Given the description of an element on the screen output the (x, y) to click on. 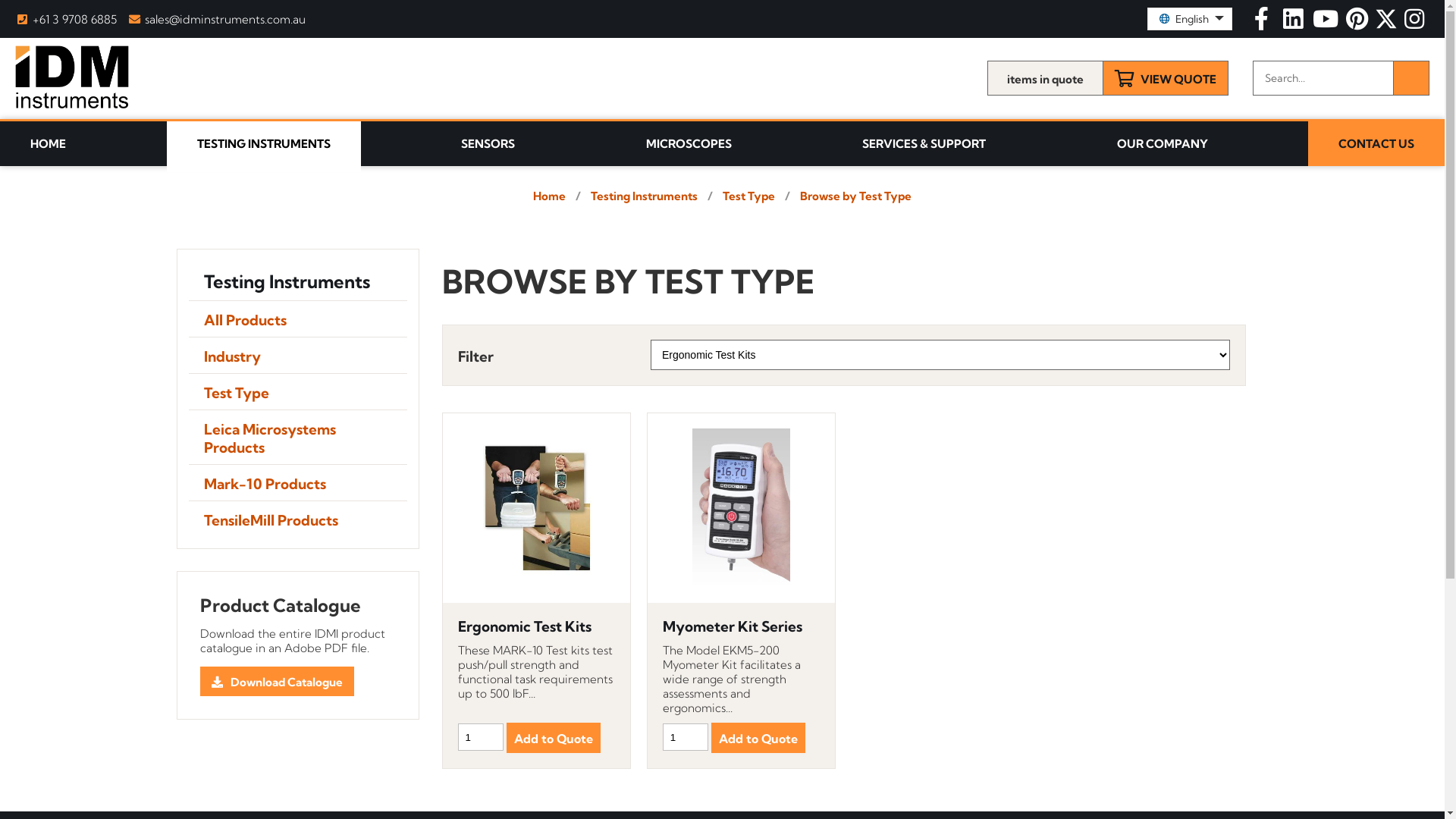
IDM Instruments on Facebook Element type: hover (1263, 22)
HOME Element type: text (48, 143)
  +61 3 9708 6885 Element type: text (65, 19)
MICROSCOPES Element type: text (688, 143)
IDM Instruments on Twitter Element type: hover (1387, 22)
  Element type: text (1327, 22)
  sales@idminstruments.com.au  Element type: text (217, 19)
IDM Instruments on Youtube Element type: hover (1327, 22)
Mark-10 Products Element type: text (297, 482)
CONTACT US Element type: text (1376, 143)
OUR COMPANY Element type: text (1161, 143)
TensileMill Products Element type: text (297, 518)
Ergonomic Test Kits Element type: text (536, 627)
  Element type: text (1295, 22)
TESTING INSTRUMENTS Element type: text (263, 146)
SERVICES & SUPPORT Element type: text (923, 143)
Search Element type: text (1411, 77)
Test Type Element type: text (748, 195)
IDM Instruments on LinkedIn Element type: hover (1295, 22)
Download Catalogue Element type: text (277, 681)
  Element type: text (1263, 22)
VIEW QUOTE Element type: text (1165, 77)
Add to Quote Element type: text (758, 737)
  Element type: text (1414, 22)
Add to Quote Element type: text (553, 737)
Industry Element type: text (297, 355)
Home Element type: text (549, 195)
IDM Instruments on Instagram Element type: hover (1414, 22)
Leica Microsystems Products Element type: text (297, 437)
Browse by Test Type Element type: text (855, 195)
SENSORS Element type: text (487, 143)
Testing Instruments Element type: text (643, 195)
Testing Instruments Element type: text (297, 280)
All Products Element type: text (297, 318)
Myometer Kit Series Element type: text (740, 627)
IDM Instruments on Pinterest Element type: hover (1358, 22)
Test Type Element type: text (297, 391)
  Element type: text (1358, 22)
items Element type: text (1044, 77)
